Given the description of an element on the screen output the (x, y) to click on. 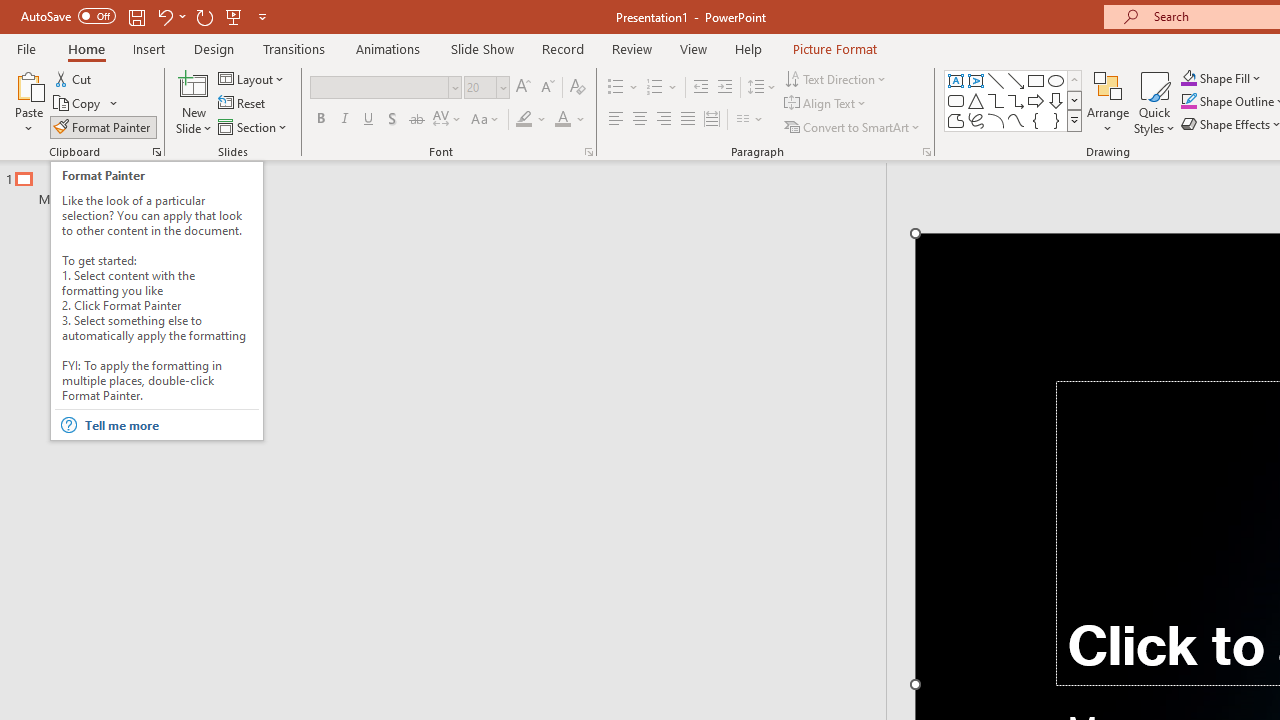
Freeform: Shape (955, 120)
Center (639, 119)
Arc (995, 120)
Decrease Font Size (547, 87)
Vertical Text Box (975, 80)
Convert to SmartArt (853, 126)
Justify (687, 119)
Text Direction (836, 78)
